Given the description of an element on the screen output the (x, y) to click on. 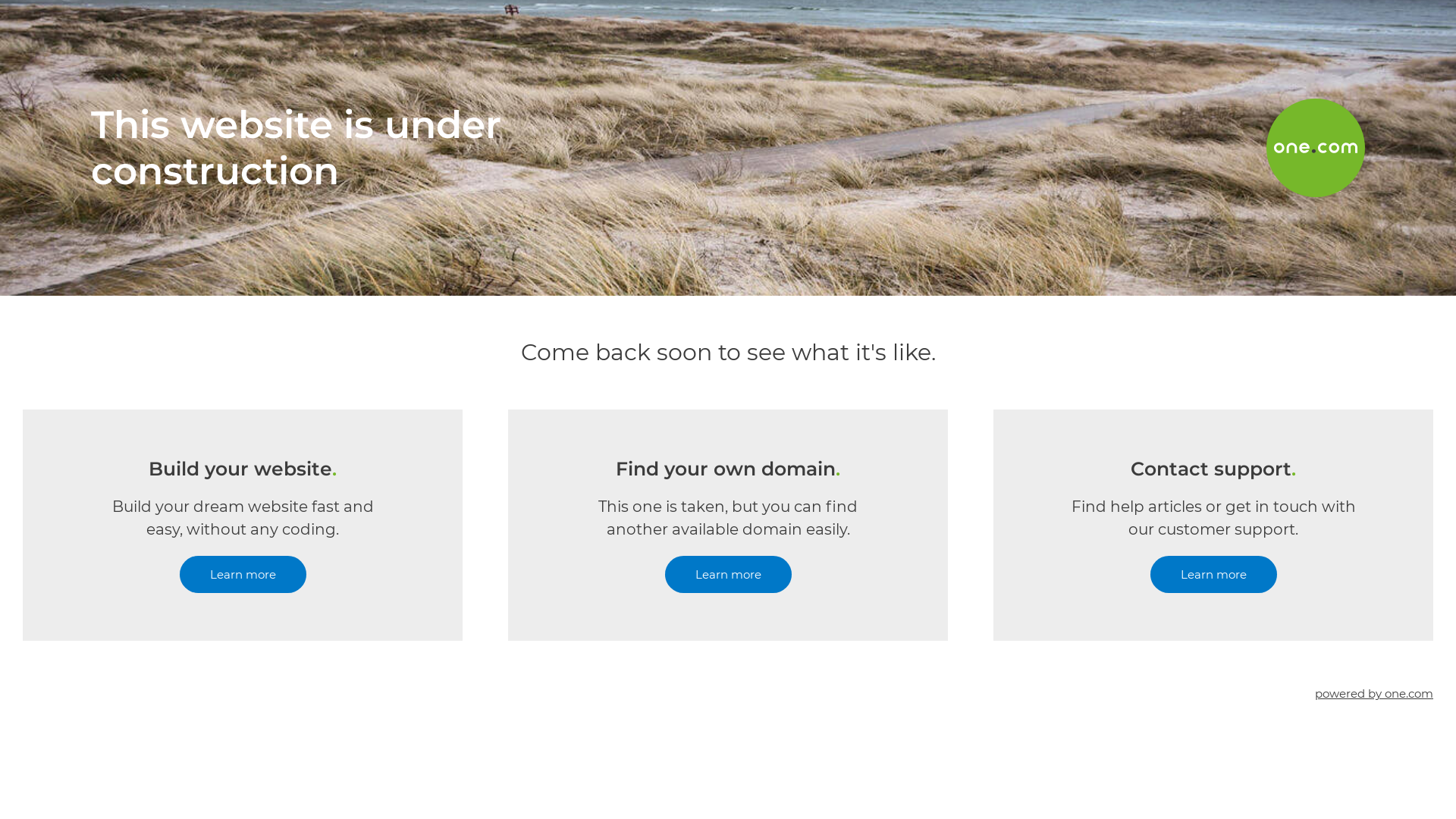
powered by one.com Element type: text (1373, 693)
Learn more Element type: text (727, 574)
Learn more Element type: text (241, 574)
Learn more Element type: text (1212, 574)
